Given the description of an element on the screen output the (x, y) to click on. 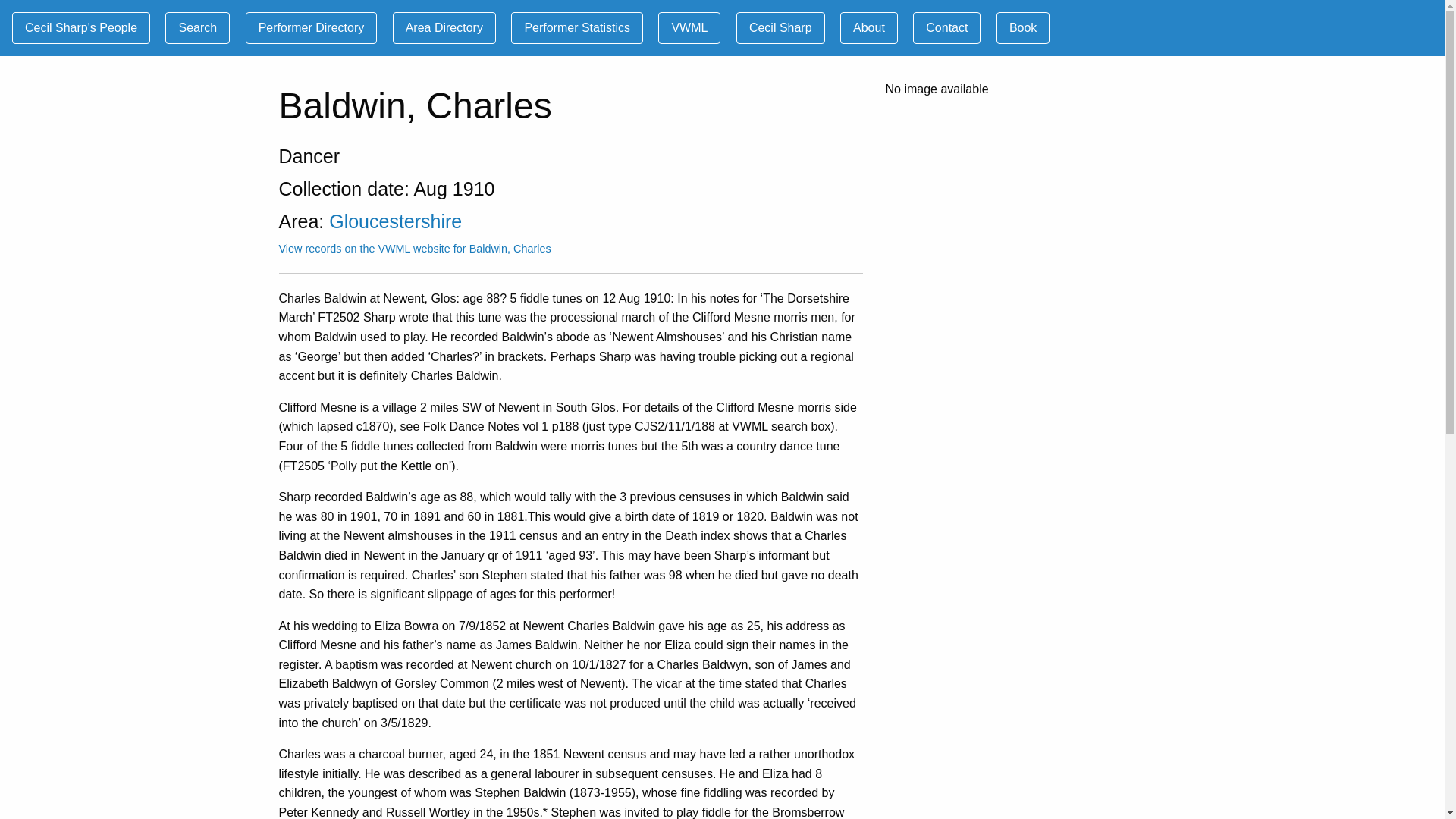
Area Directory (444, 28)
Cecil Sharp (780, 28)
Performer Directory (311, 28)
Gloucestershire (395, 220)
Contact (945, 28)
Performer Statistics (577, 28)
Cecil Sharp's People (80, 28)
View records on the VWML website for Baldwin, Charles (415, 248)
Book (1022, 28)
VWML (689, 28)
